Given the description of an element on the screen output the (x, y) to click on. 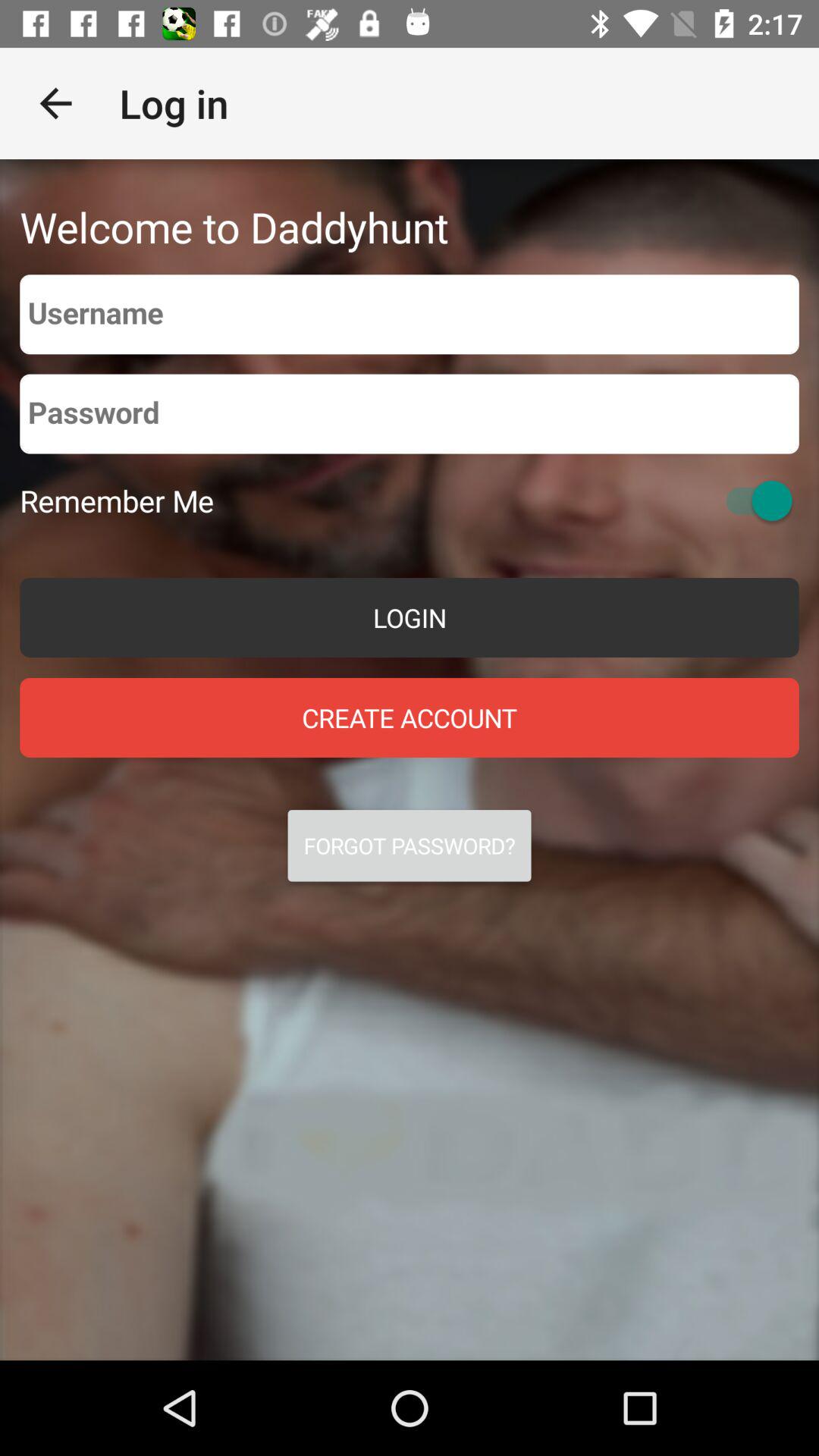
select the remember me on the left (116, 500)
